Given the description of an element on the screen output the (x, y) to click on. 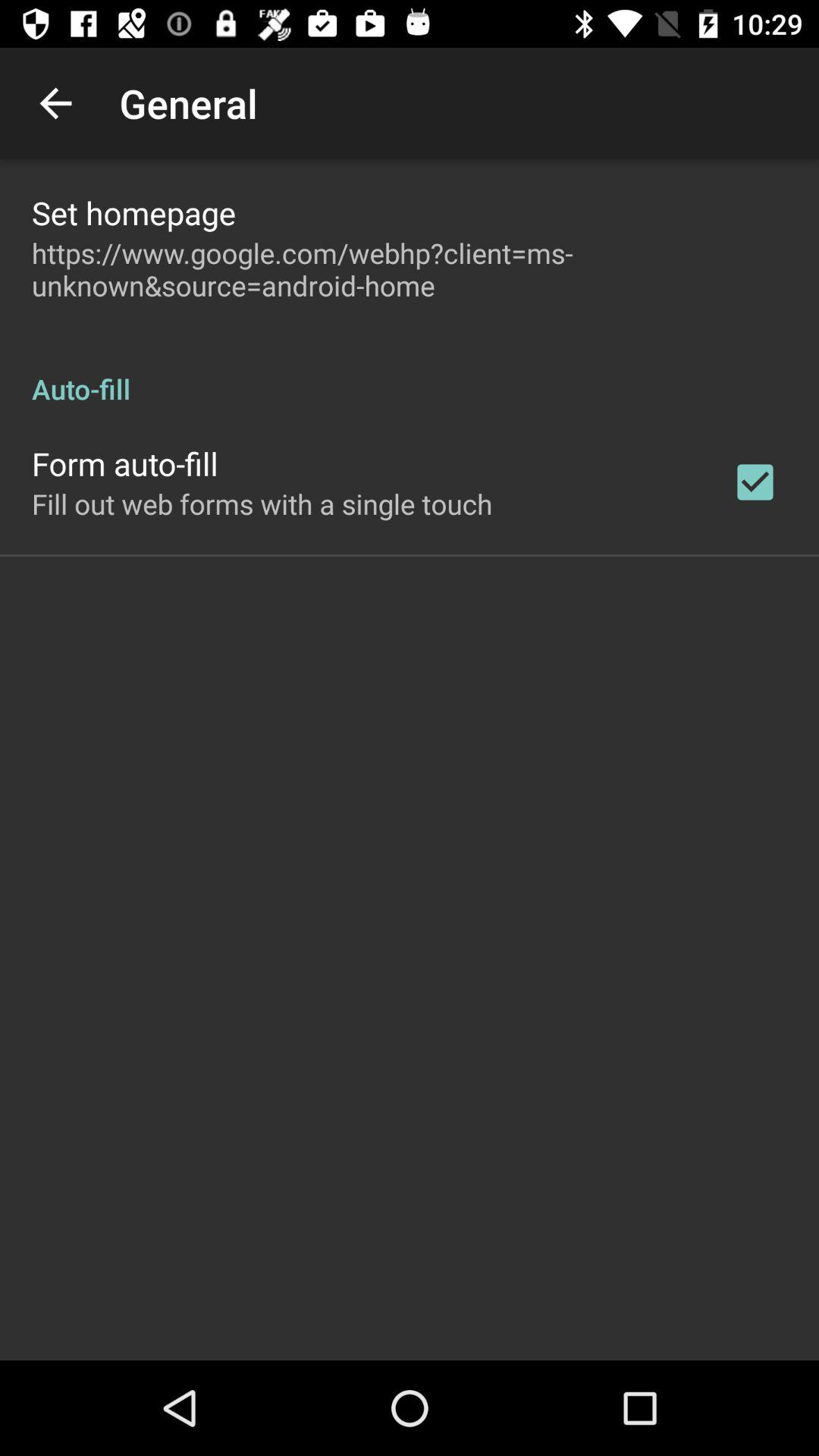
click app below the auto-fill app (755, 482)
